Given the description of an element on the screen output the (x, y) to click on. 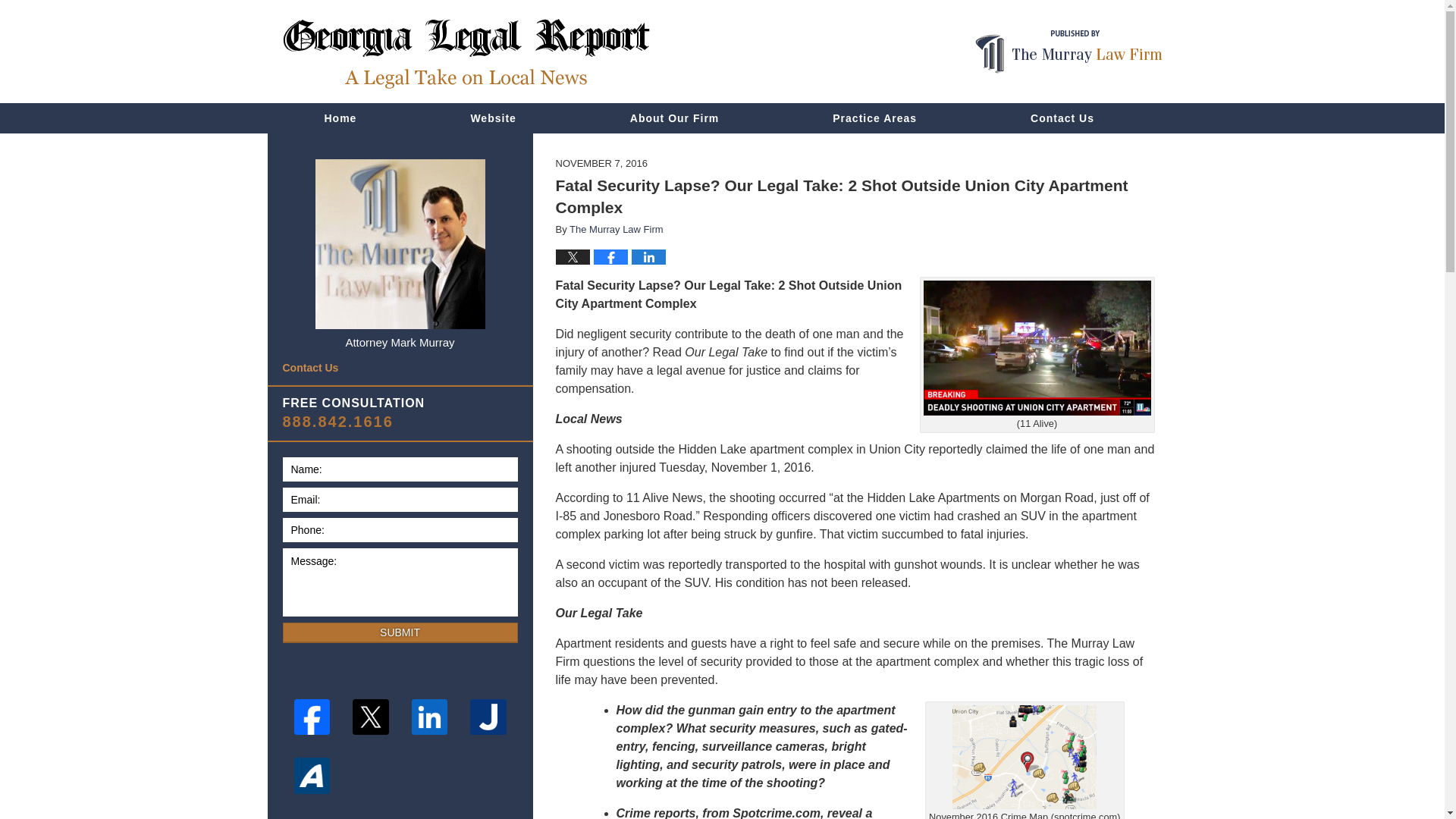
LinkedIn (430, 717)
Justia (488, 717)
Website (492, 118)
Twitter (370, 717)
Home (339, 118)
Georgia Legal Report (465, 53)
Published By The Murray Law Firm, LLC (1068, 51)
About Our Firm (674, 118)
The Murray Law Firm (616, 229)
Contact Us (1062, 118)
SUBMIT (399, 632)
Practice Areas (875, 118)
Facebook (311, 717)
Please enter a valid phone number. (399, 529)
Contact Us (399, 367)
